Given the description of an element on the screen output the (x, y) to click on. 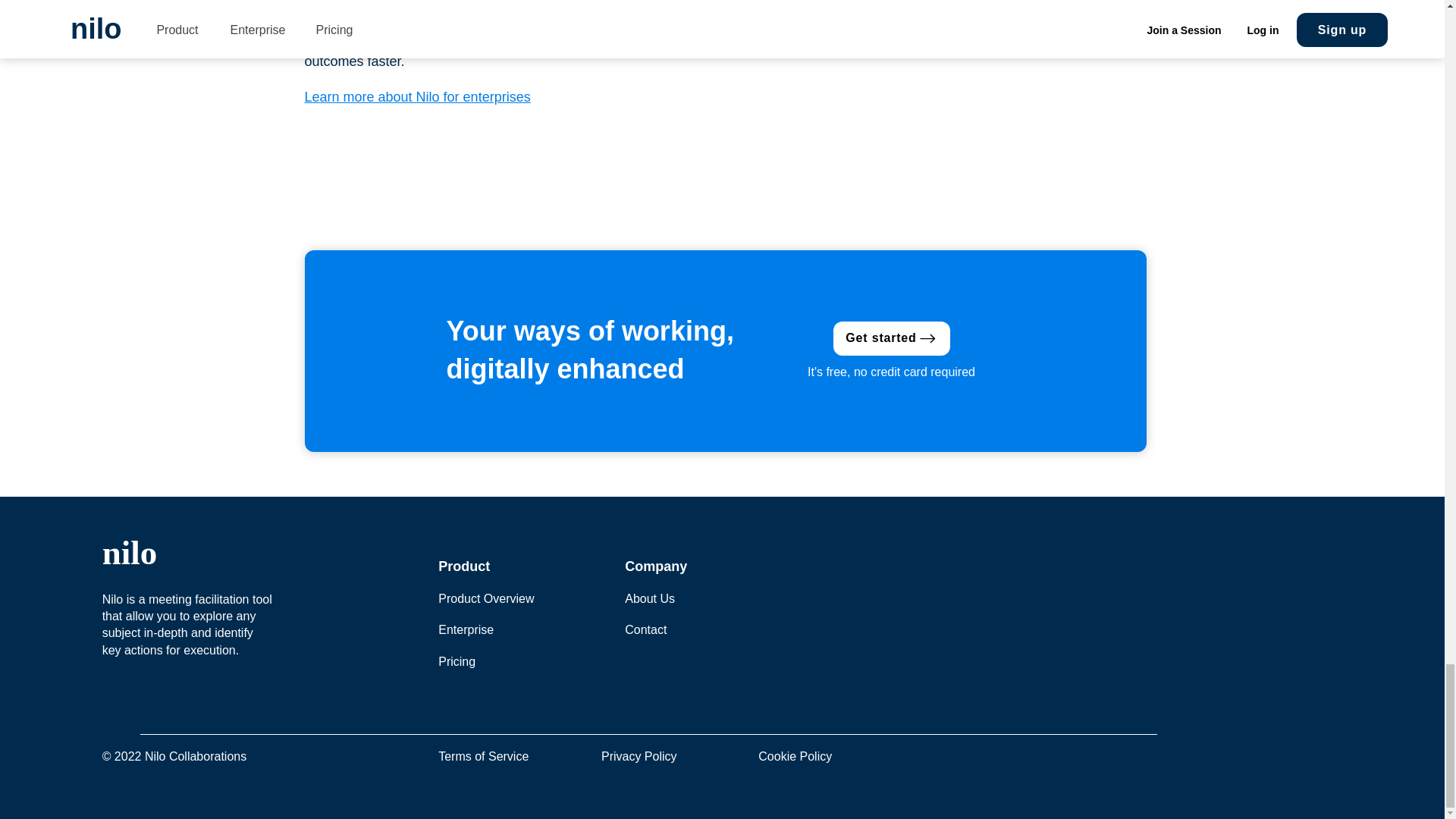
Cookie Policy (794, 756)
Terms of Service (483, 756)
Contact (645, 629)
Get started (890, 338)
About Us (649, 598)
nilo (129, 552)
Privacy Policy (639, 756)
Enterprise (465, 629)
Pricing (457, 661)
Learn more about Nilo for enterprises (417, 96)
Product Overview (486, 598)
